Given the description of an element on the screen output the (x, y) to click on. 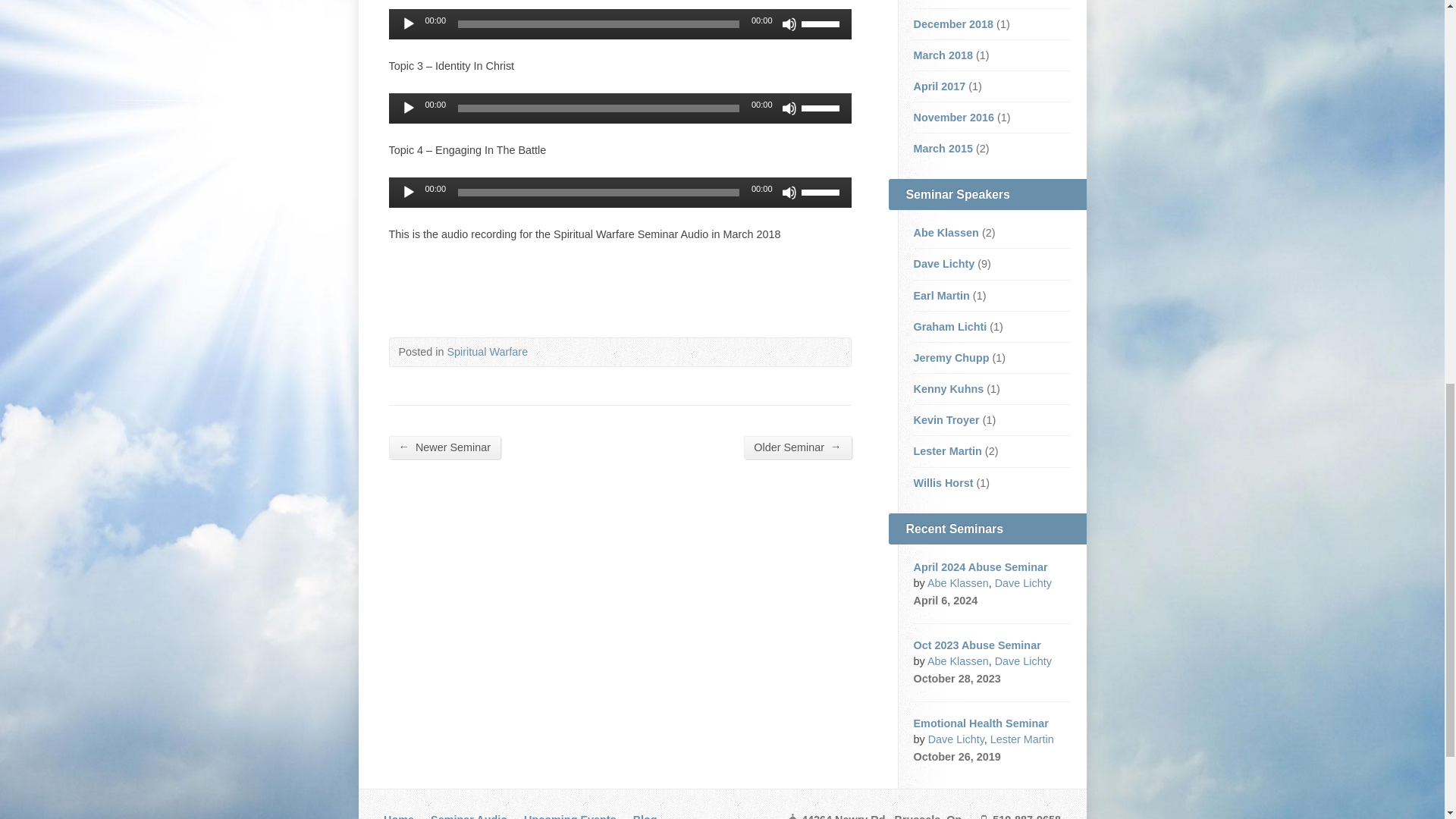
Oct 2023 Abuse Seminar (976, 645)
April 2024 Abuse Seminar (979, 567)
Emotional Health Seminar (980, 723)
Mute (788, 23)
Play (407, 192)
Mute (788, 192)
Mute (788, 108)
Play (407, 23)
Play (407, 108)
